Given the description of an element on the screen output the (x, y) to click on. 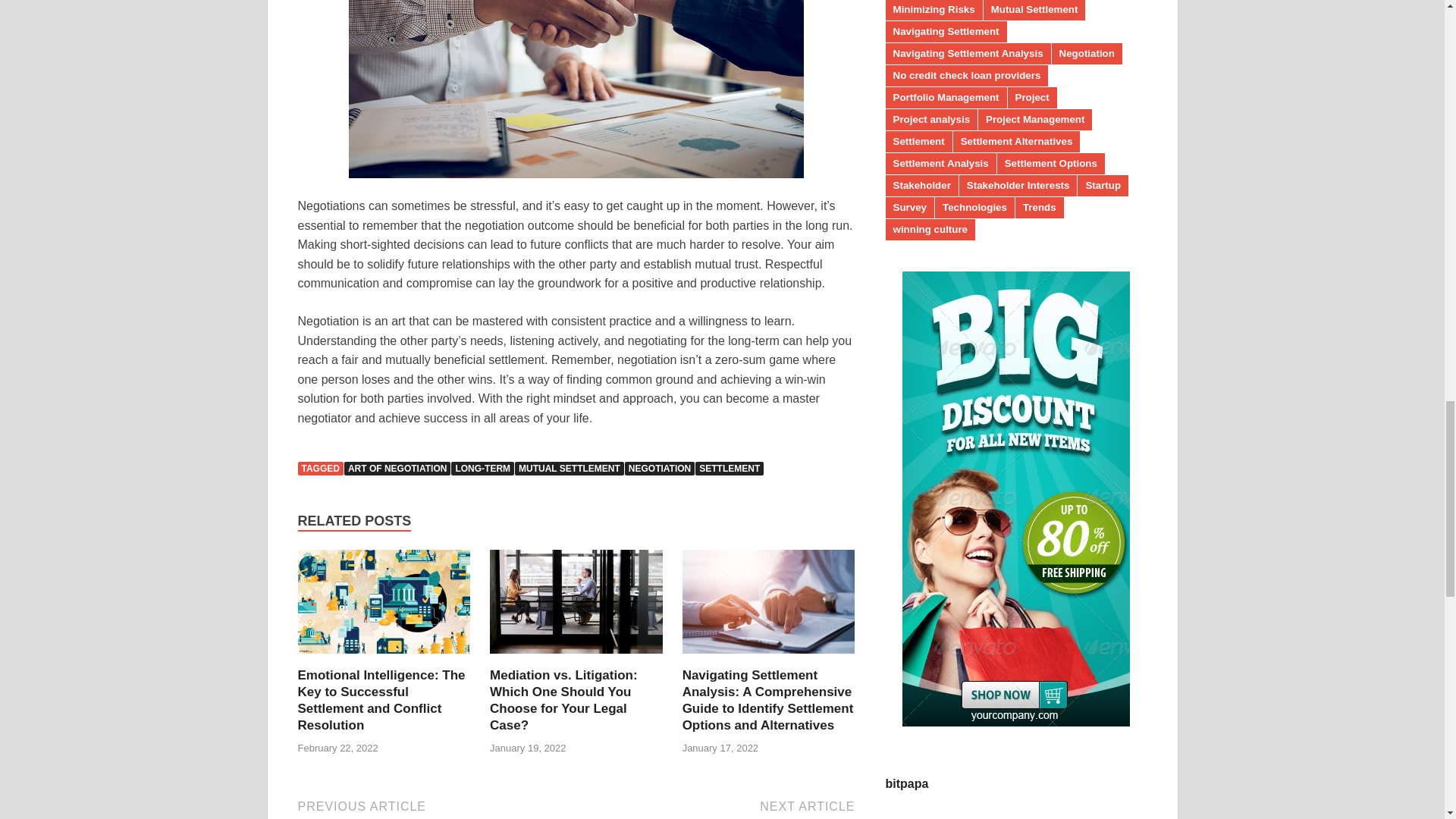
NEGOTIATION (659, 468)
LONG-TERM (482, 468)
SETTLEMENT (728, 468)
MUTUAL SETTLEMENT (569, 468)
ART OF NEGOTIATION (396, 468)
